Given the description of an element on the screen output the (x, y) to click on. 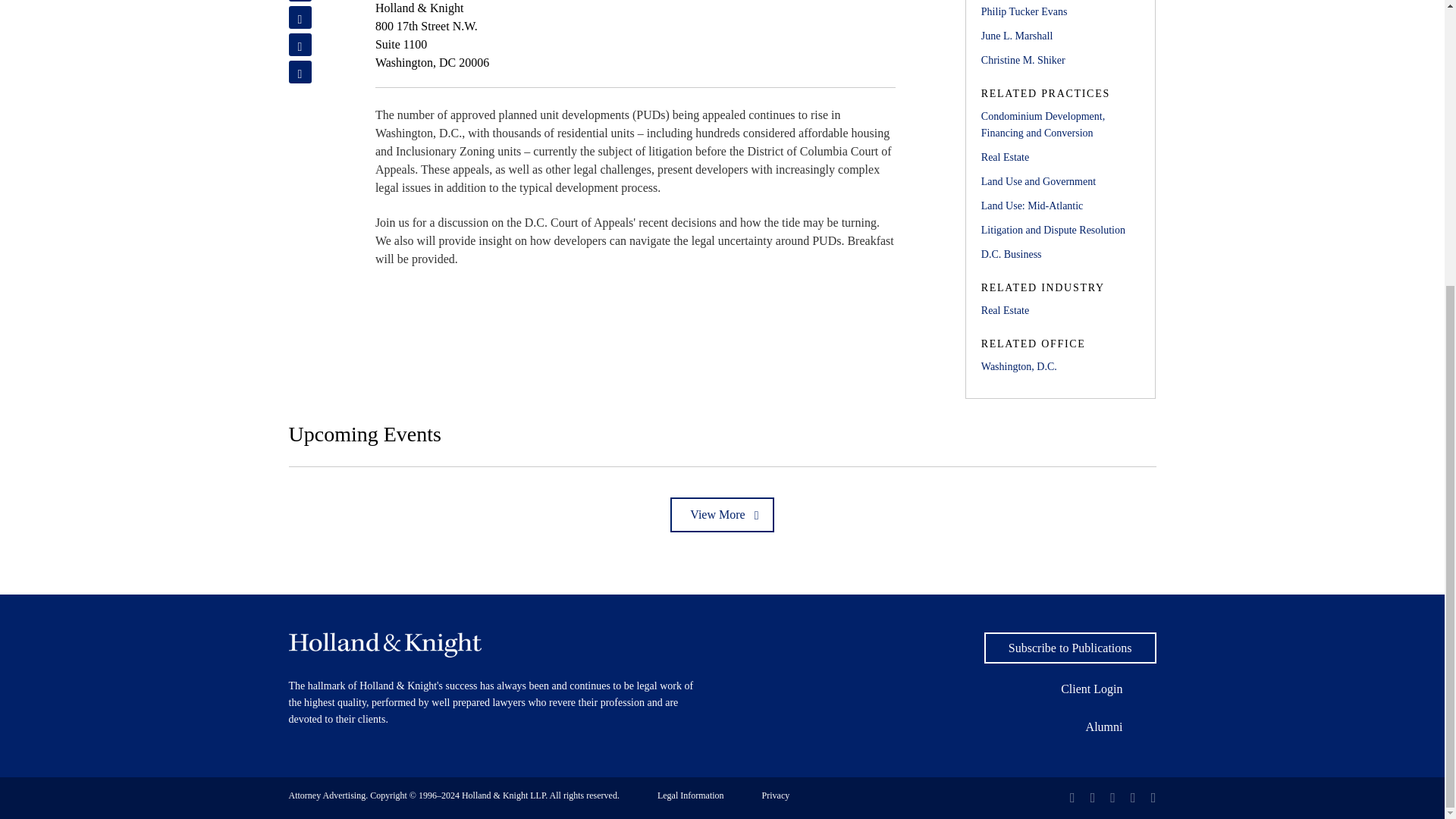
Christine M. Shiker (1060, 60)
Philip Tucker Evans (1060, 12)
June L. Marshall (1060, 36)
